Given the description of an element on the screen output the (x, y) to click on. 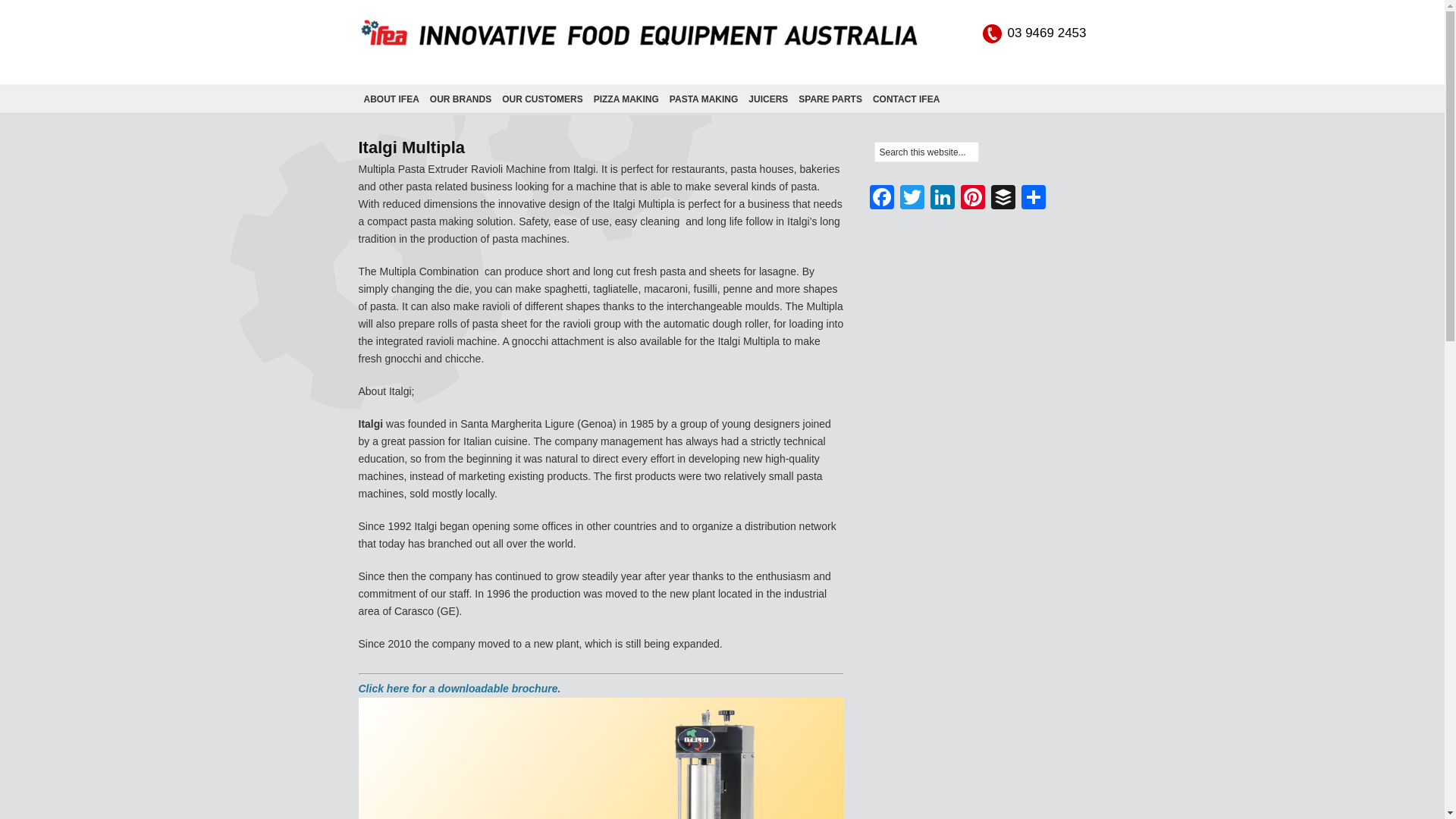
Buffer (1002, 198)
ABOUT IFEA (390, 99)
Twitter (911, 198)
Innovative Food Equipment Australia (638, 47)
PIZZA MAKING (625, 99)
Innovative Food Equipment Australia (638, 47)
Pinterest (971, 198)
CONTACT IFEA (905, 99)
Search this website... (925, 151)
03 9469 2453 (1034, 33)
OUR CUSTOMERS (542, 99)
JUICERS (767, 99)
PASTA MAKING (702, 99)
LinkedIn (941, 198)
Facebook (881, 198)
